Given the description of an element on the screen output the (x, y) to click on. 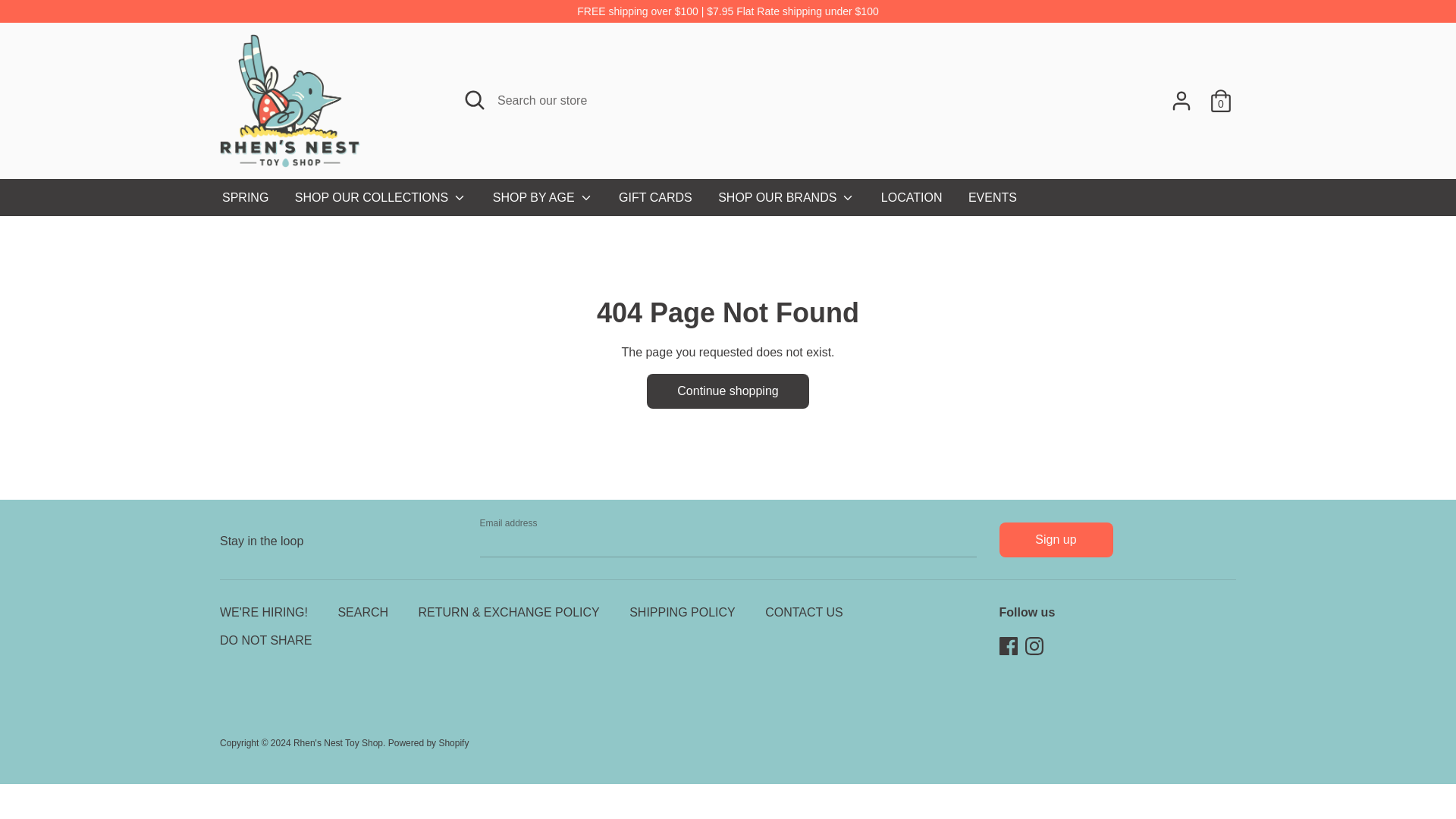
0 (1220, 94)
